Given the description of an element on the screen output the (x, y) to click on. 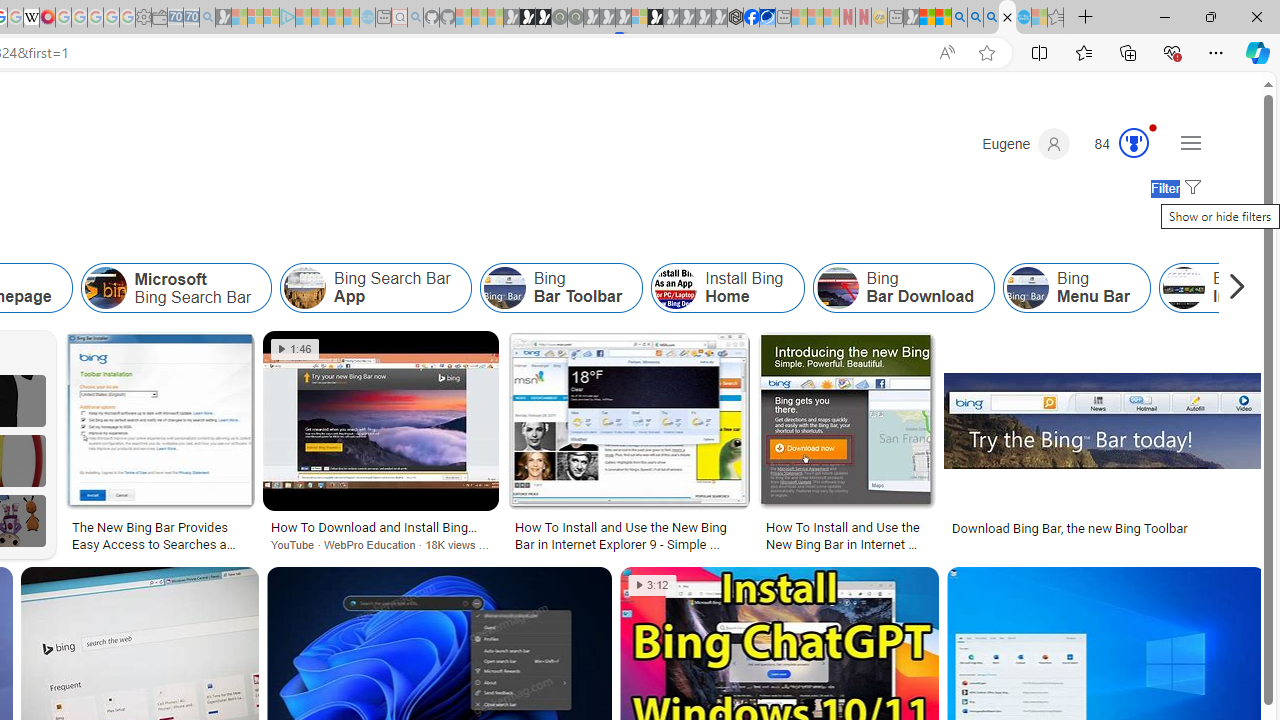
Install Bing Home (676, 287)
Microsoft Bing Search Bar (175, 287)
Nordace - Cooler Bags (735, 17)
Services - Maintenance | Sky Blue Bikes - Sky Blue Bikes (1023, 17)
2009 Bing officially replaced Live Search on June 3 - Search (975, 17)
